Given the description of an element on the screen output the (x, y) to click on. 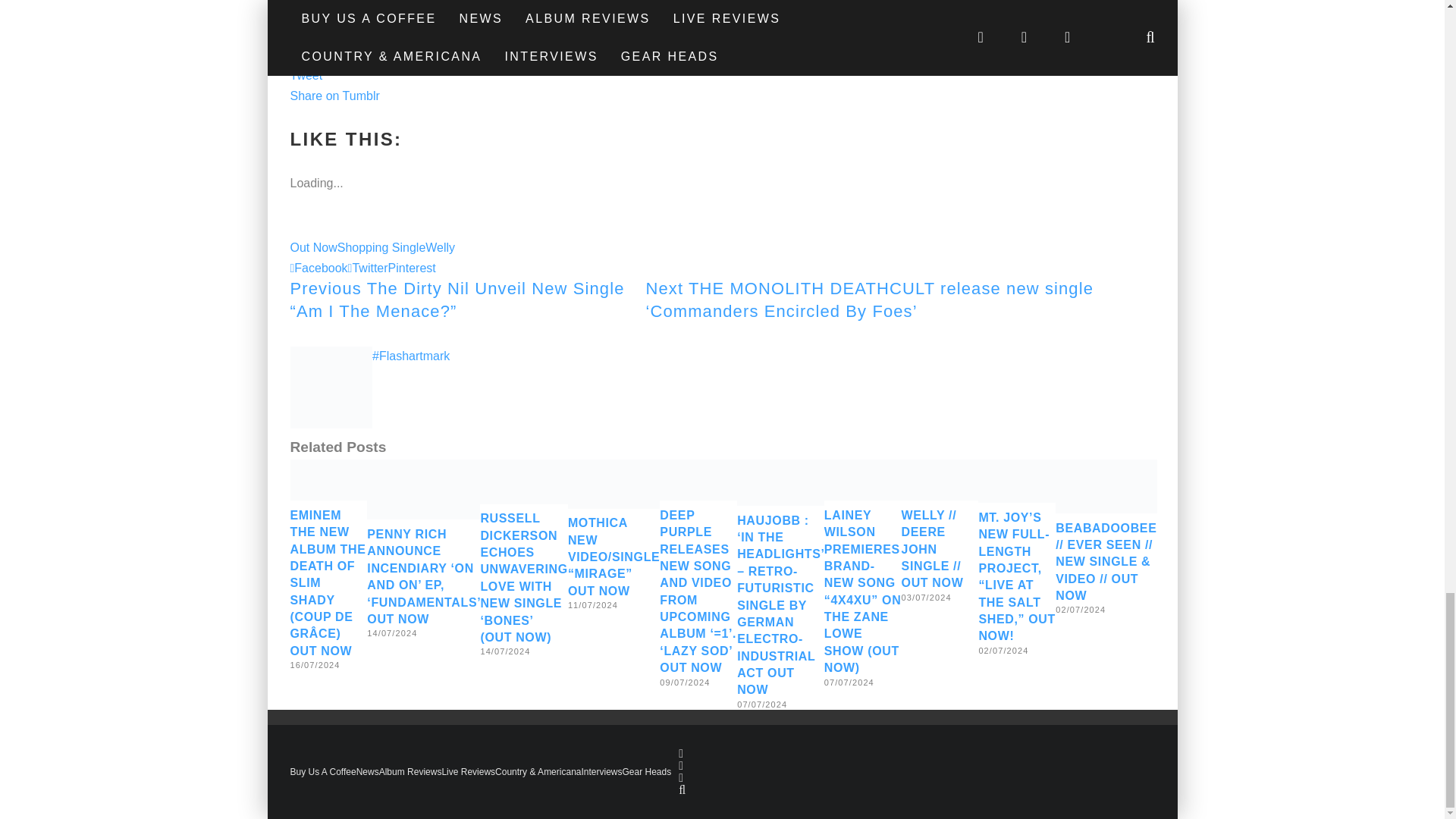
Facebook (318, 268)
Share on Tumblr (333, 95)
Twitter (367, 268)
Shopping Single (381, 246)
Tweet (305, 74)
Welly (439, 246)
Share on Tumblr (333, 95)
Out Now (312, 246)
